Given the description of an element on the screen output the (x, y) to click on. 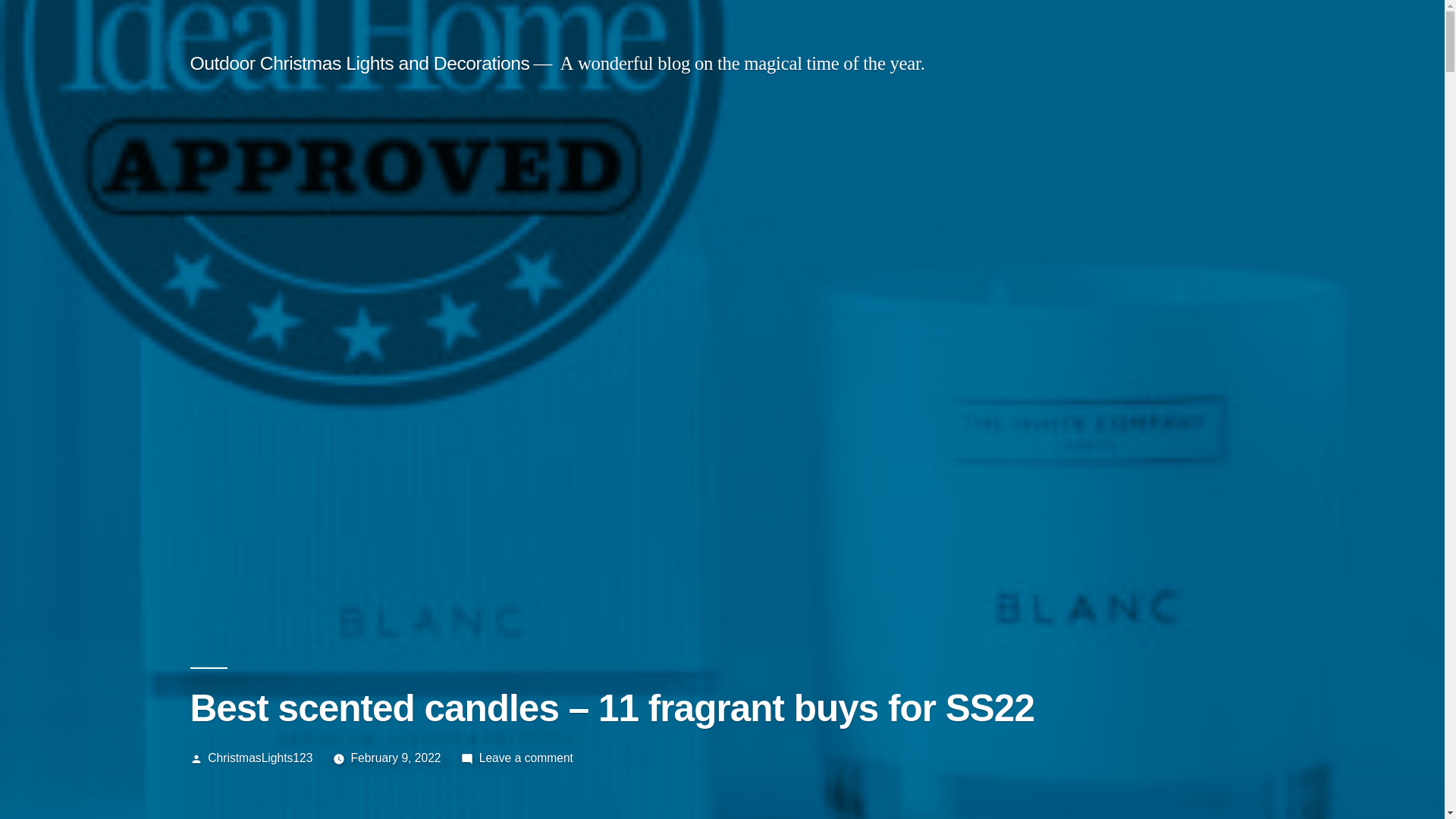
ChristmasLights123 (260, 757)
Outdoor Christmas Lights and Decorations (359, 63)
February 9, 2022 (395, 757)
